Given the description of an element on the screen output the (x, y) to click on. 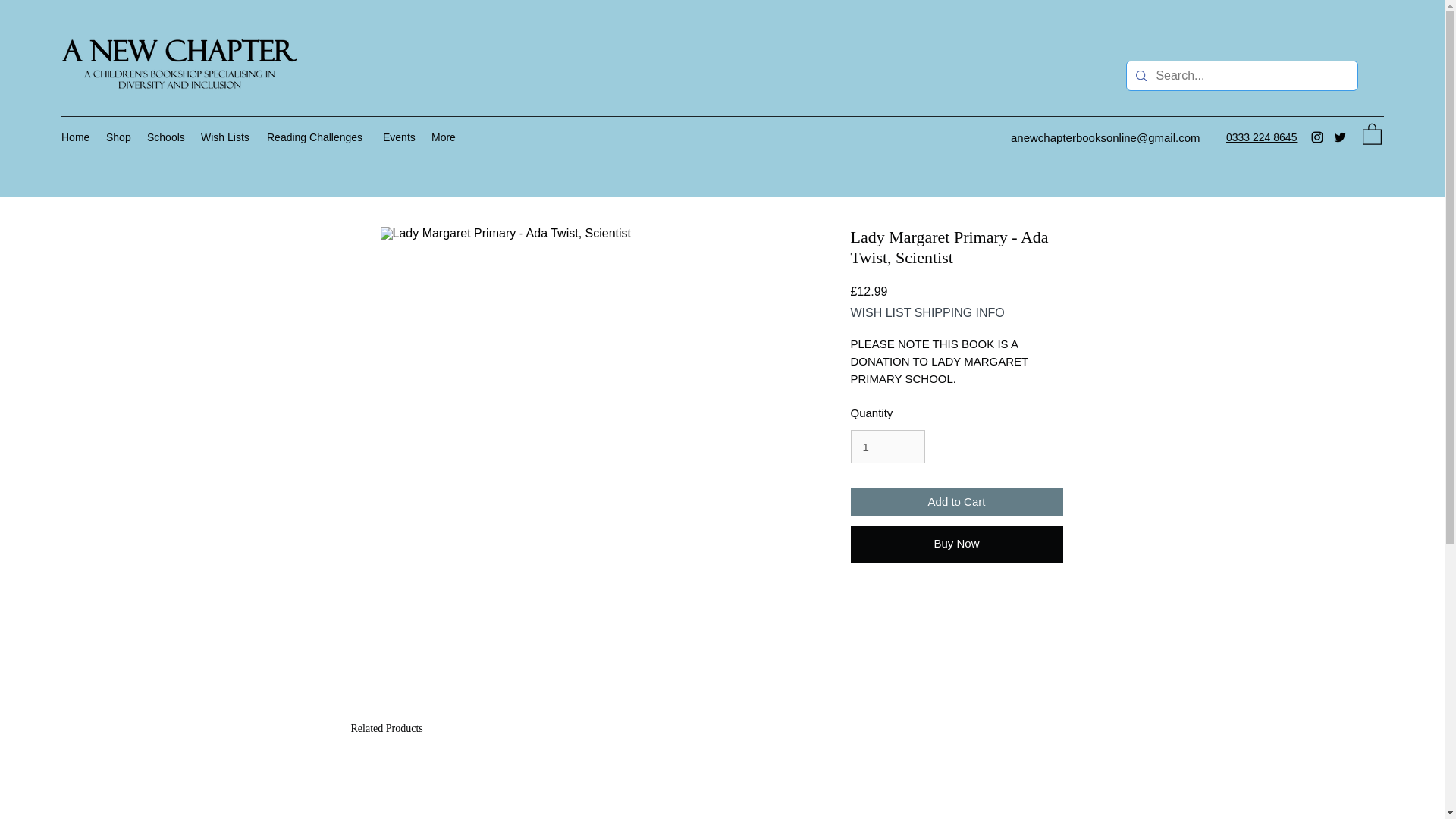
WISH LIST SHIPPING INFO (927, 313)
Wish Lists (226, 137)
Shop (119, 137)
Schools (166, 137)
0333 224 8645 (1261, 137)
1 (887, 446)
Add to Cart (956, 501)
Events (399, 137)
Reading Challenges (317, 137)
Home (76, 137)
Buy Now (956, 543)
